Given the description of an element on the screen output the (x, y) to click on. 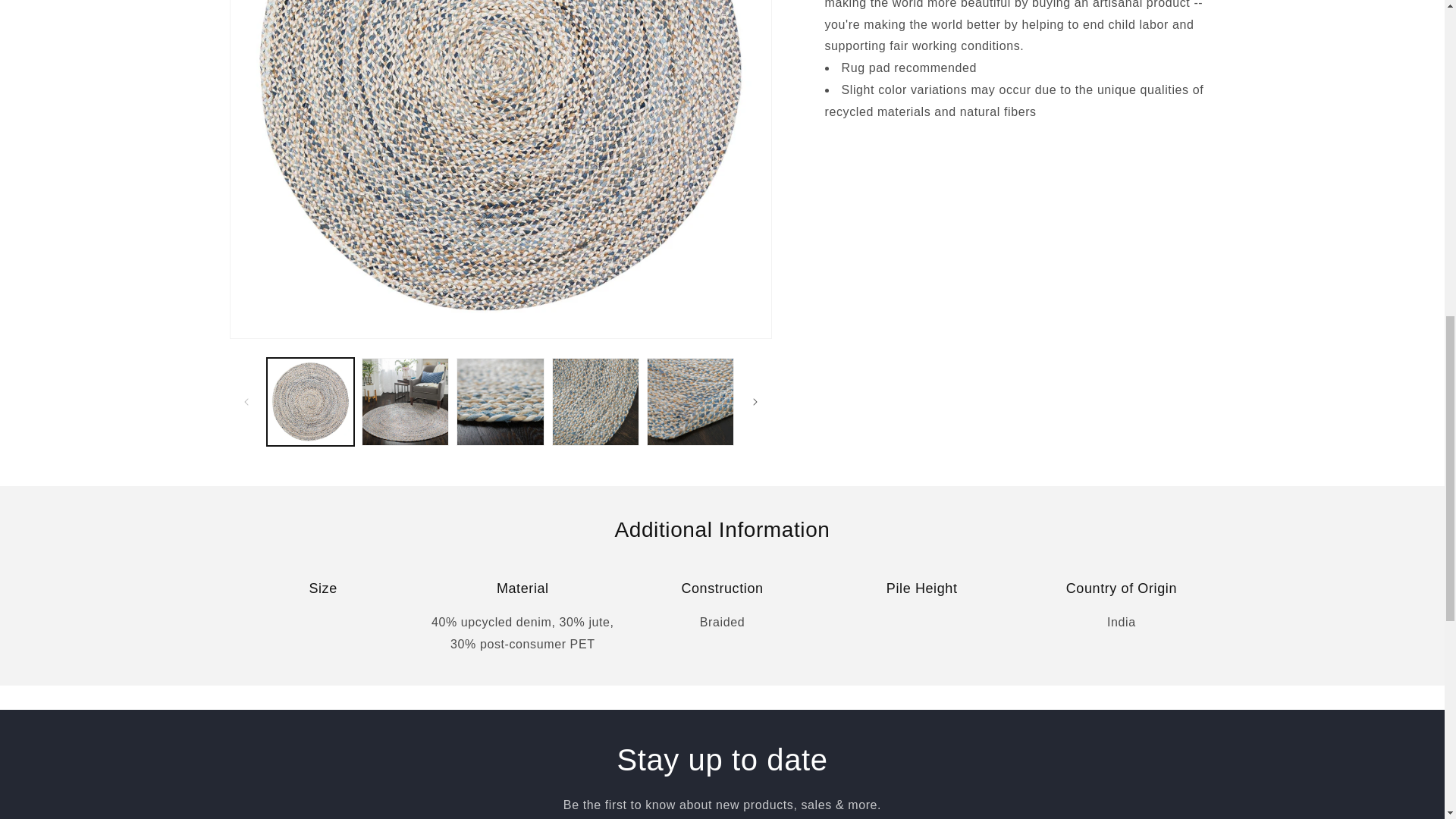
Size (323, 610)
Pile Height (921, 610)
Stay up to date (1120, 610)
